Given the description of an element on the screen output the (x, y) to click on. 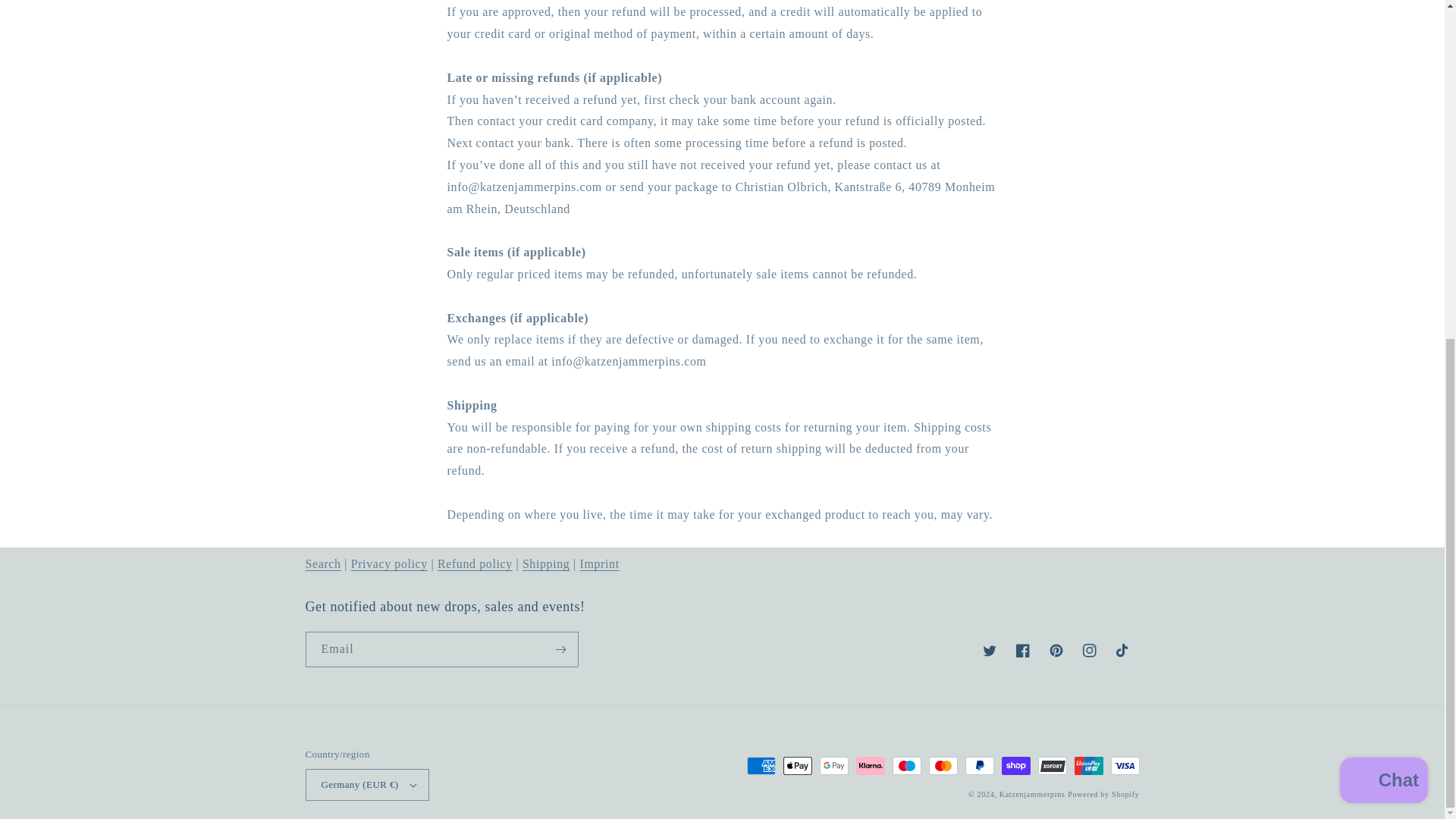
Privacy policy (389, 563)
Shipping (546, 563)
Privacy Policy (389, 563)
Imprint (598, 563)
Imprint (598, 563)
Search (322, 563)
Shopify online store chat (1383, 208)
Refund policy (475, 563)
Shipping policy (546, 563)
Refund policy (475, 563)
